Given the description of an element on the screen output the (x, y) to click on. 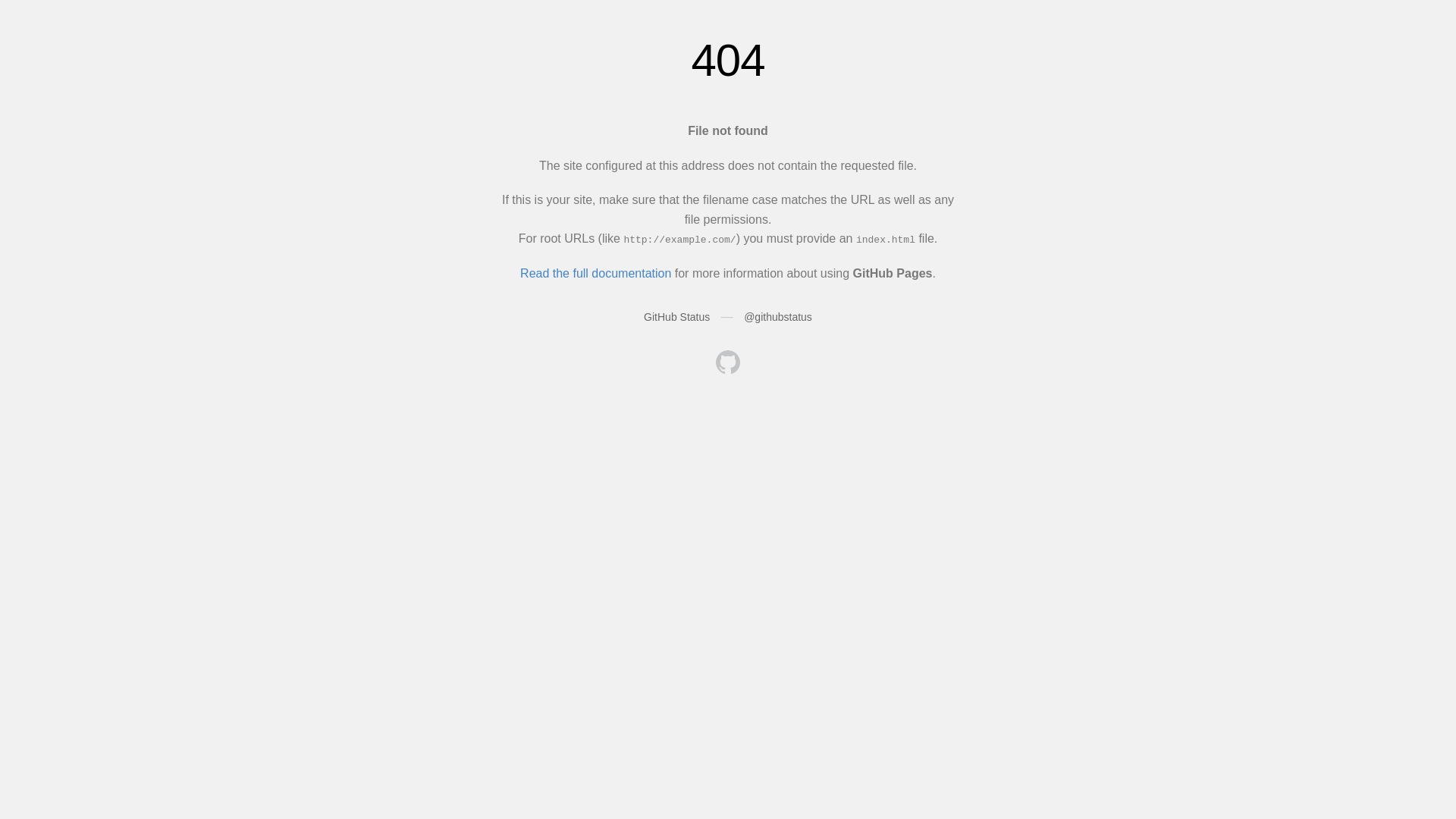
GitHub Status Element type: text (676, 316)
@githubstatus Element type: text (777, 316)
Read the full documentation Element type: text (595, 272)
